Given the description of an element on the screen output the (x, y) to click on. 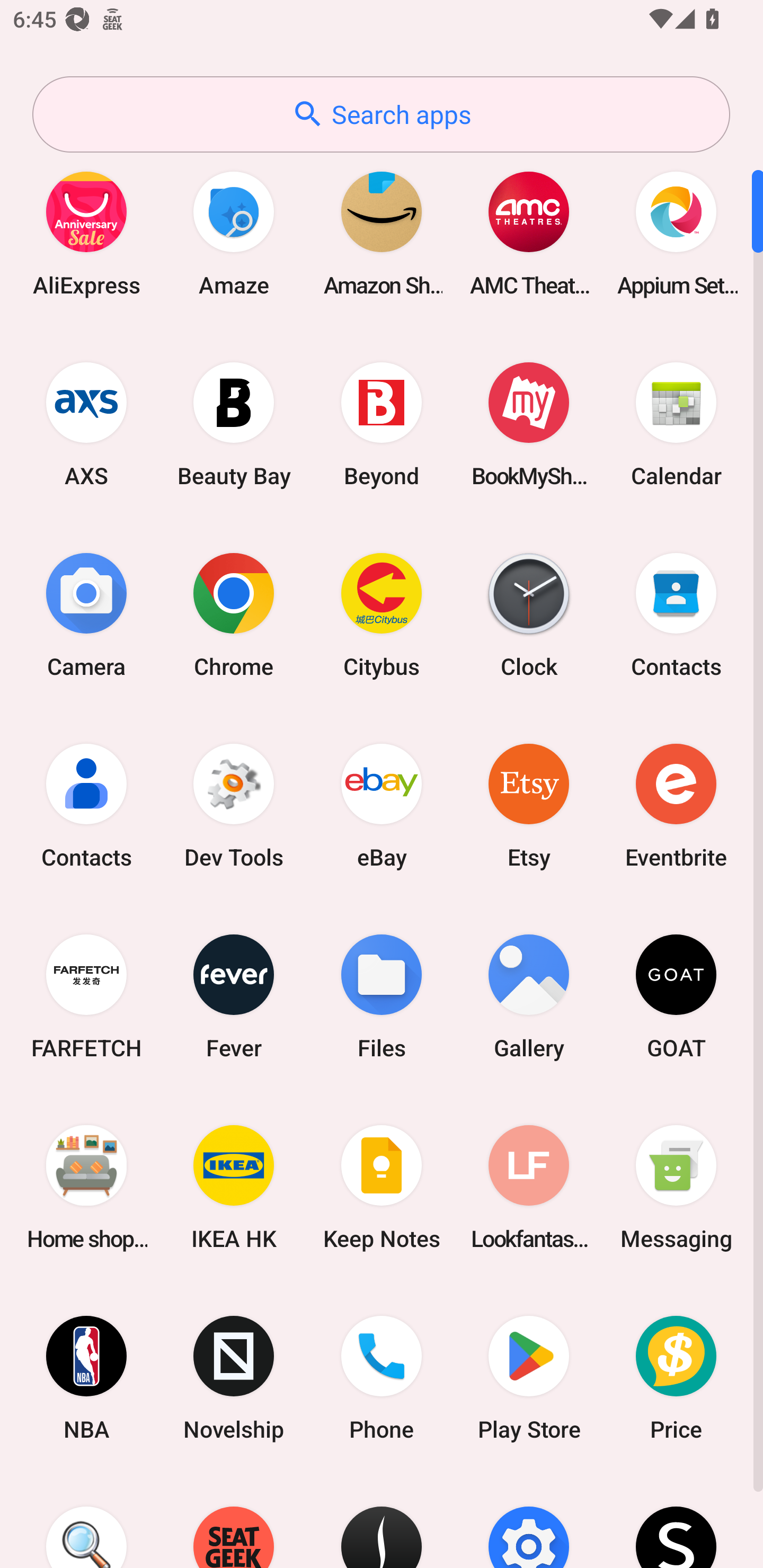
  Search apps (381, 114)
AliExpress (86, 233)
Amaze (233, 233)
Amazon Shopping (381, 233)
AMC Theatres (528, 233)
Appium Settings (676, 233)
AXS (86, 424)
Beauty Bay (233, 424)
Beyond (381, 424)
BookMyShow (528, 424)
Calendar (676, 424)
Camera (86, 614)
Chrome (233, 614)
Citybus (381, 614)
Clock (528, 614)
Contacts (676, 614)
Contacts (86, 805)
Dev Tools (233, 805)
eBay (381, 805)
Etsy (528, 805)
Eventbrite (676, 805)
FARFETCH (86, 996)
Fever (233, 996)
Files (381, 996)
Gallery (528, 996)
GOAT (676, 996)
Home shopping (86, 1186)
IKEA HK (233, 1186)
Keep Notes (381, 1186)
Lookfantastic (528, 1186)
Messaging (676, 1186)
NBA (86, 1377)
Novelship (233, 1377)
Phone (381, 1377)
Play Store (528, 1377)
Price (676, 1377)
